Given the description of an element on the screen output the (x, y) to click on. 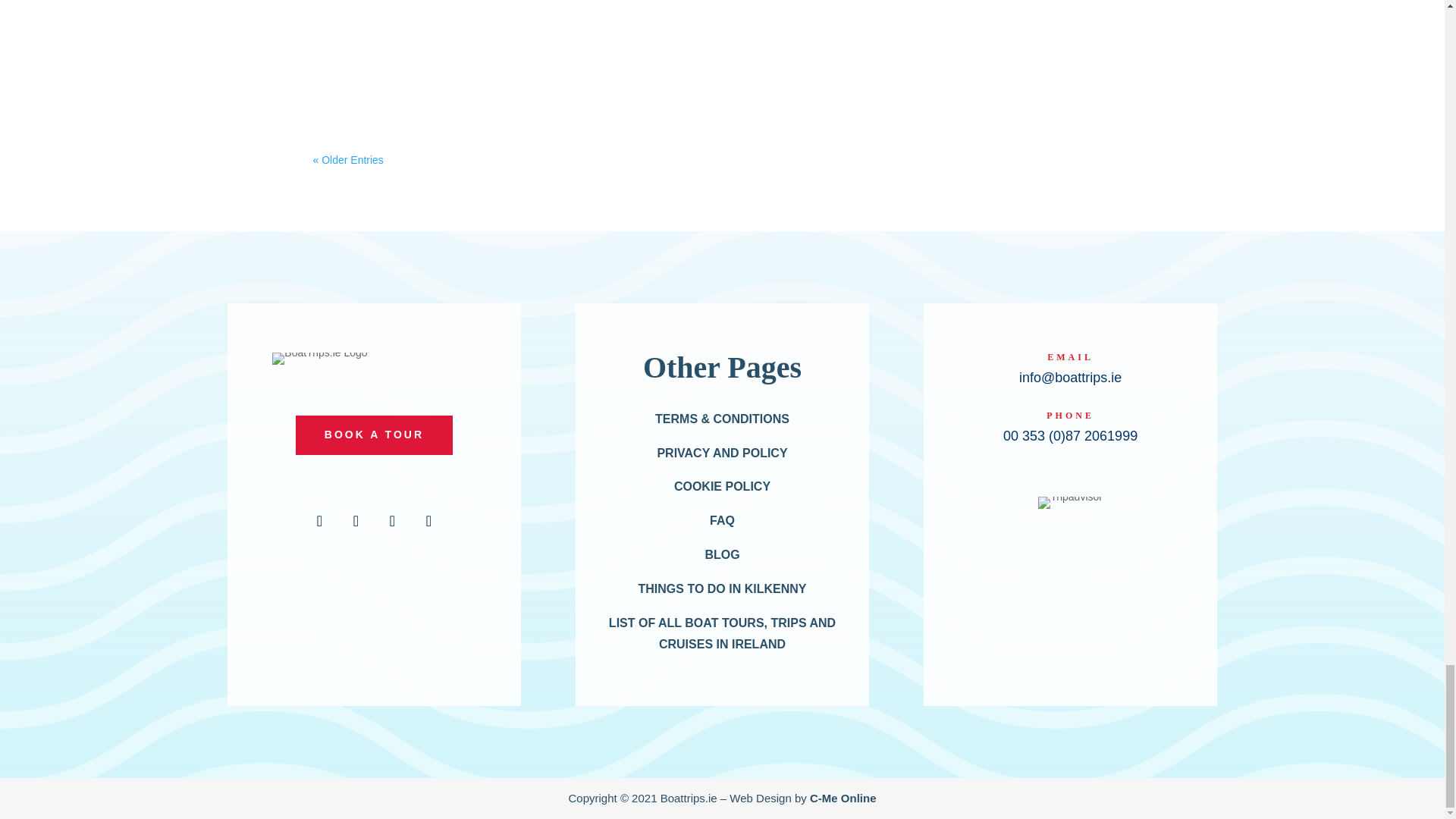
Follow on X (392, 521)
BoatTrips.ie-Logo-new (319, 358)
Follow on Facebook (319, 521)
Follow on Instagram (355, 521)
